Given the description of an element on the screen output the (x, y) to click on. 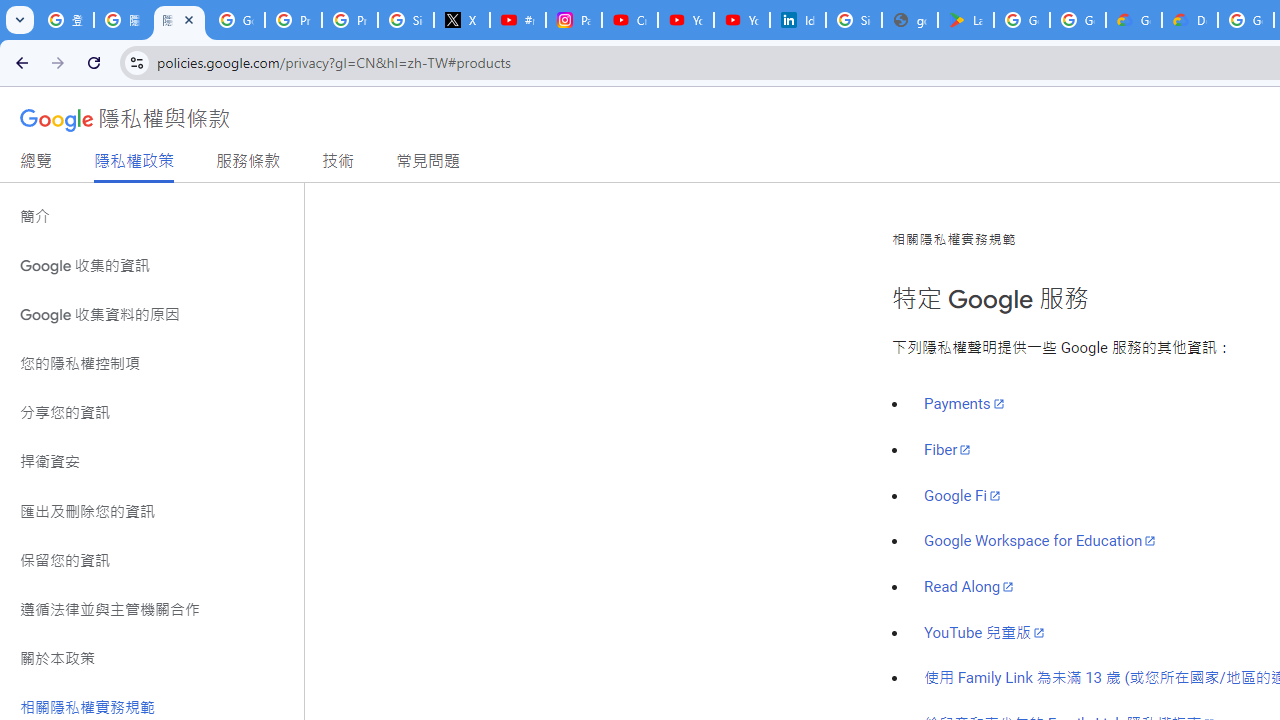
Google Workspace for Education (1040, 541)
Google Workspace - Specific Terms (1077, 20)
X (461, 20)
YouTube Culture & Trends - YouTube Top 10, 2021 (742, 20)
